Given the description of an element on the screen output the (x, y) to click on. 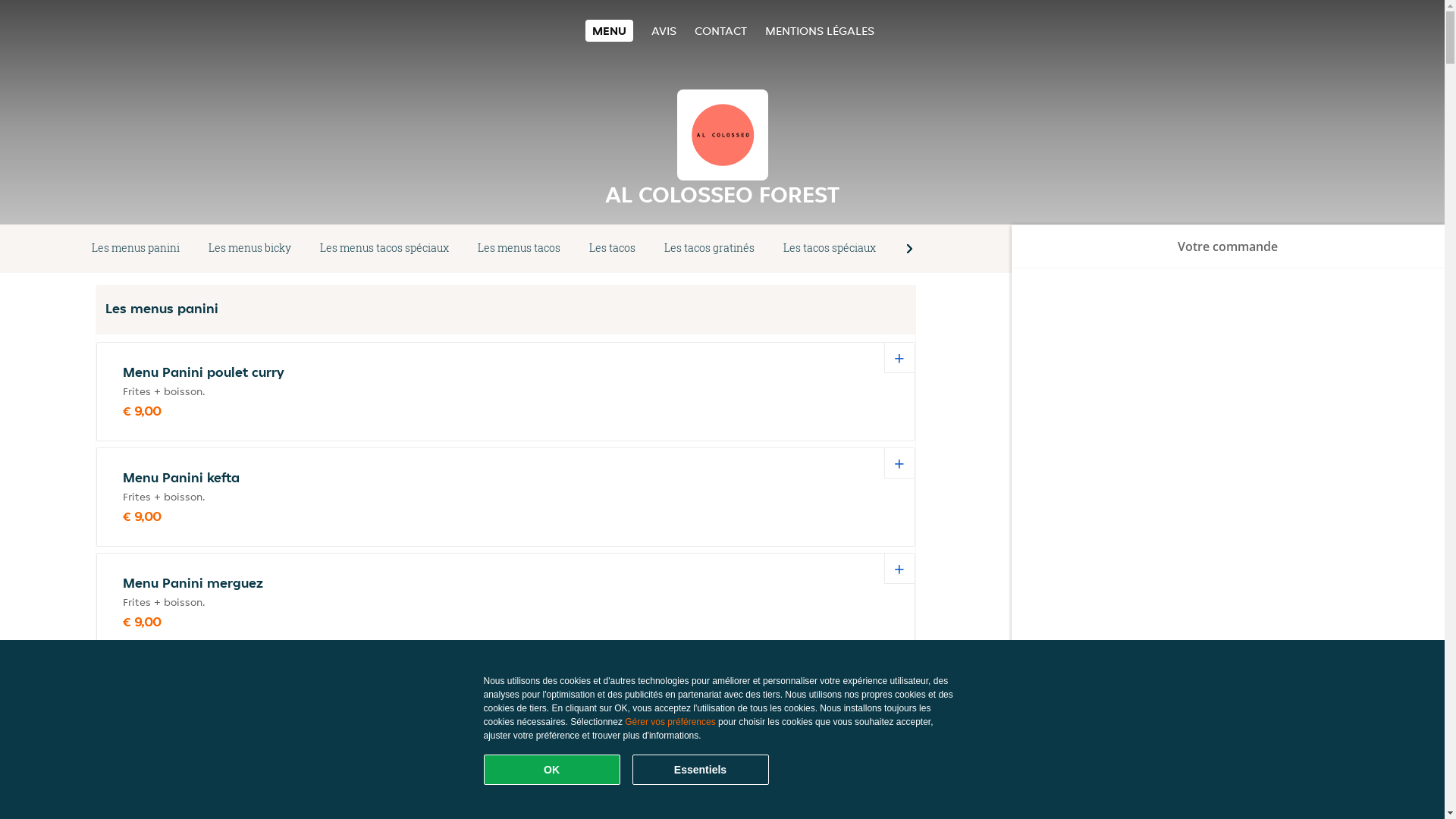
OK Element type: text (551, 769)
Les tacos Element type: text (611, 248)
Les menus panini Element type: text (135, 248)
AVIS Element type: text (663, 30)
Essentiels Element type: text (700, 769)
CONTACT Element type: text (720, 30)
Les menus tacos Element type: text (518, 248)
MENU Element type: text (609, 30)
Les menus bicky Element type: text (249, 248)
